Given the description of an element on the screen output the (x, y) to click on. 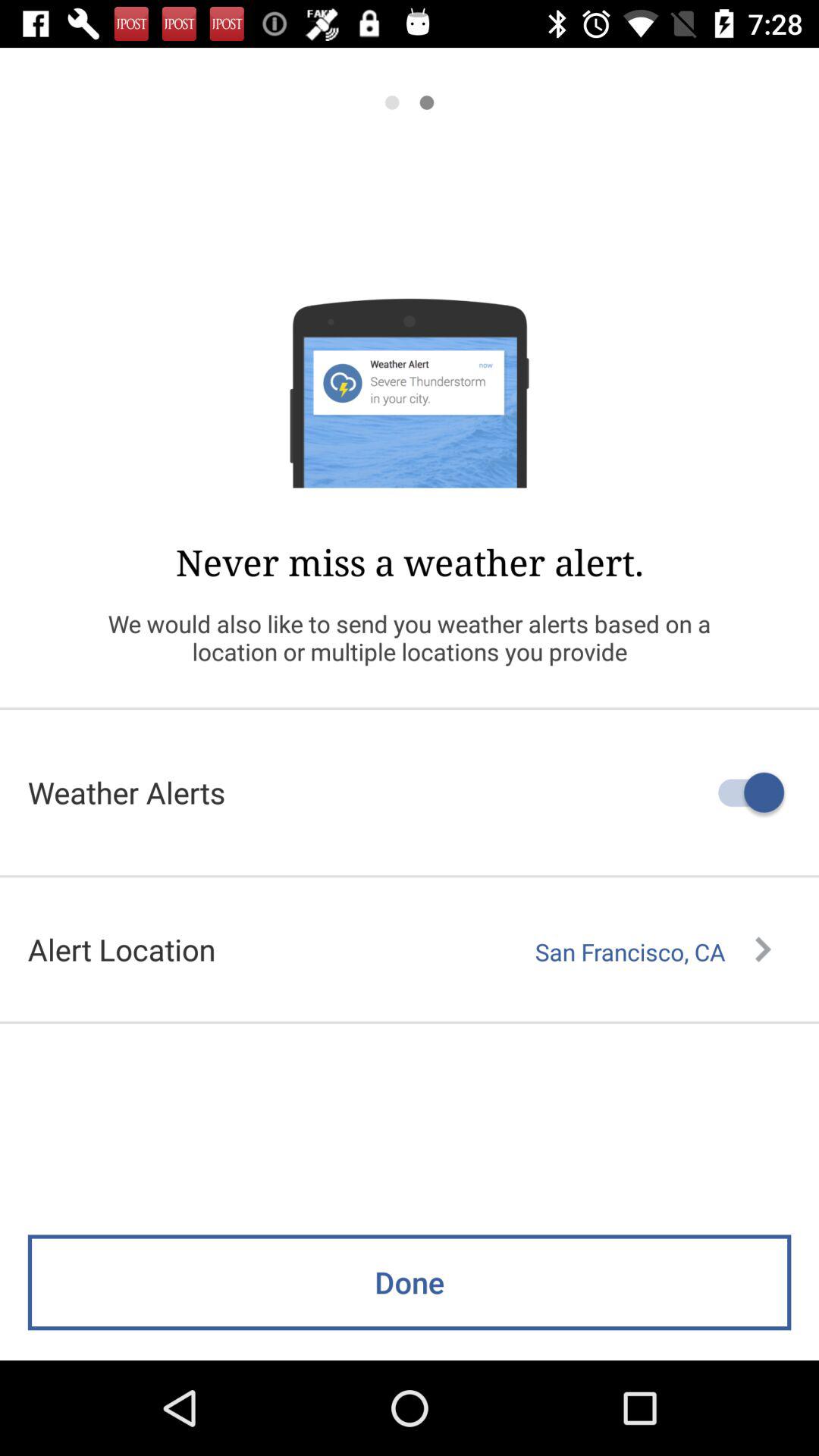
turn off icon to the right of the alert location (653, 951)
